Given the description of an element on the screen output the (x, y) to click on. 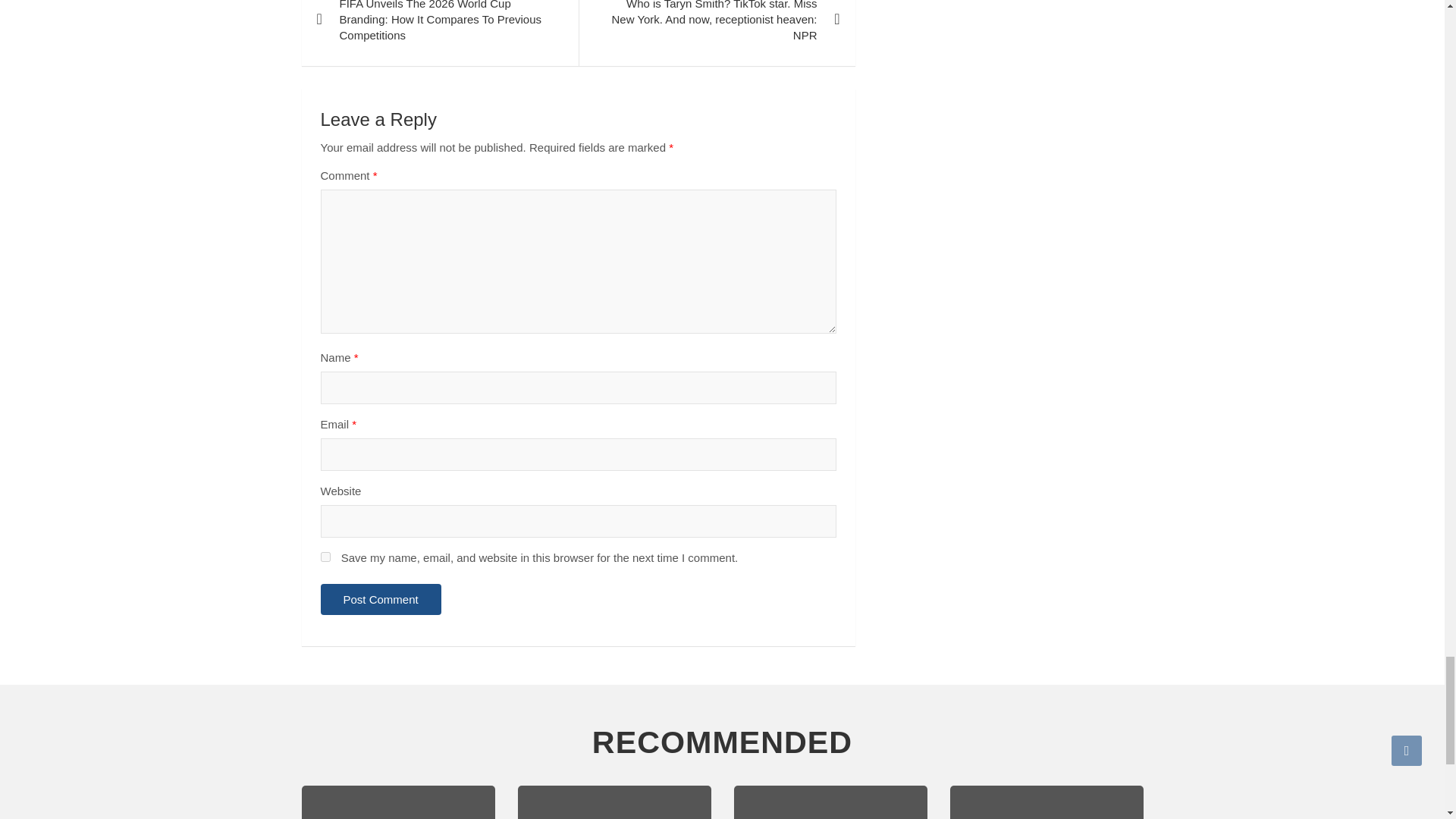
Post Comment (380, 599)
Post Comment (380, 599)
yes (325, 556)
